Given the description of an element on the screen output the (x, y) to click on. 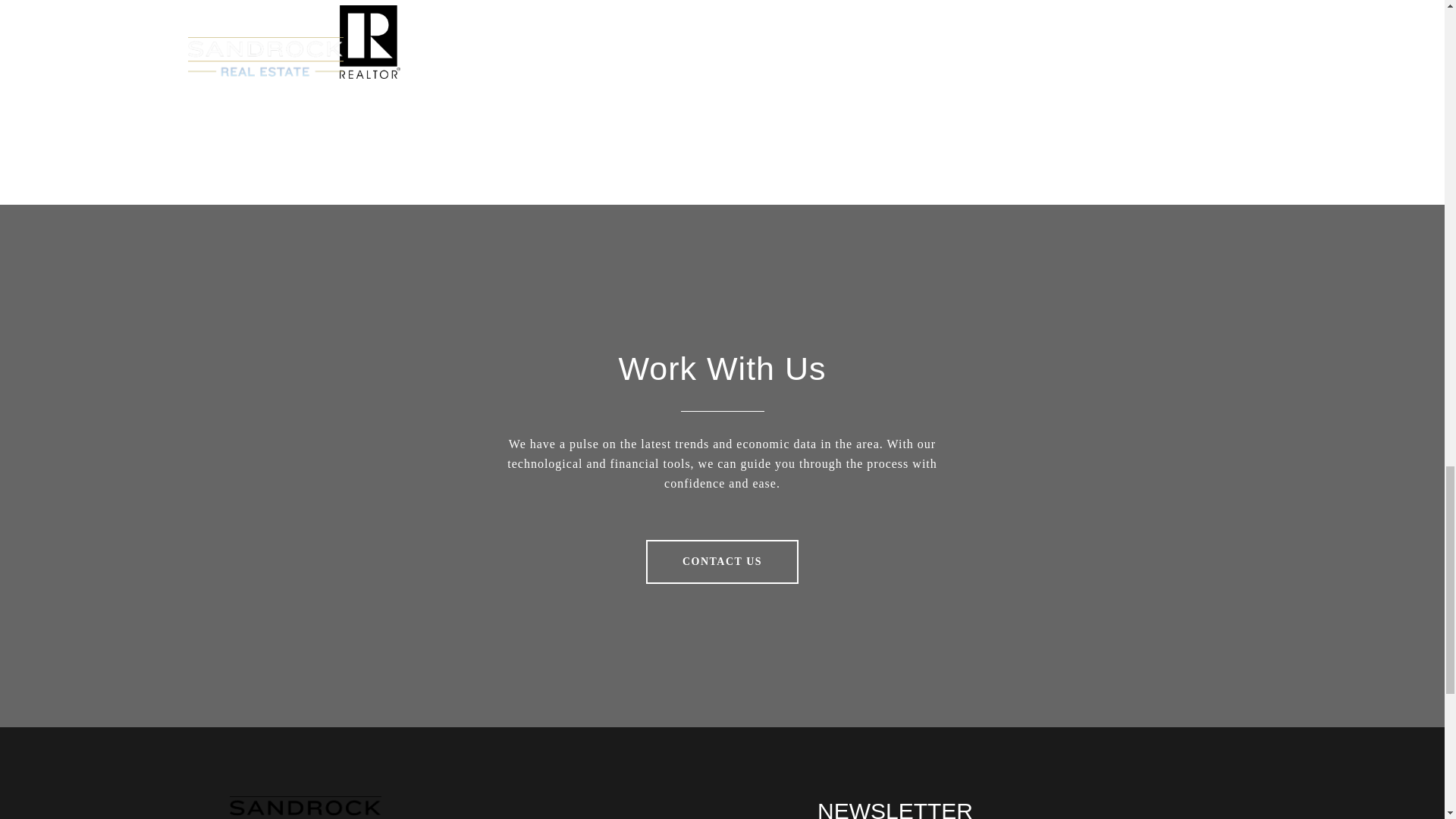
CONTACT US (721, 561)
